Given the description of an element on the screen output the (x, y) to click on. 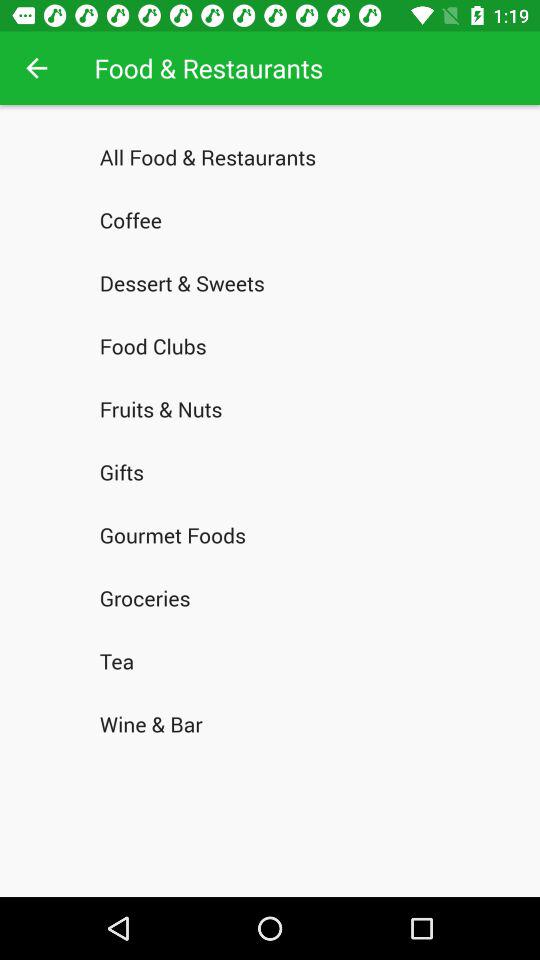
turn on the icon next to the food & restaurants item (36, 68)
